Given the description of an element on the screen output the (x, y) to click on. 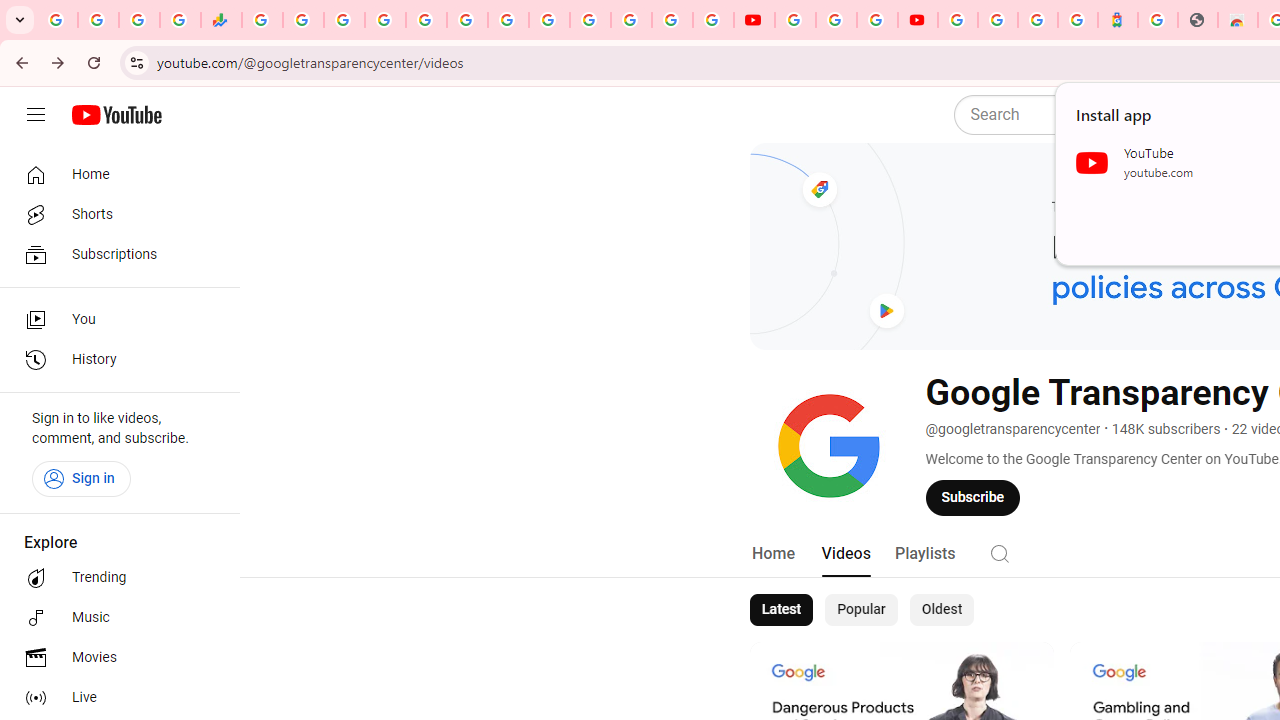
Sign in - Google Accounts (997, 20)
Sign in - Google Accounts (384, 20)
Oldest (941, 609)
YouTube (548, 20)
